Given the description of an element on the screen output the (x, y) to click on. 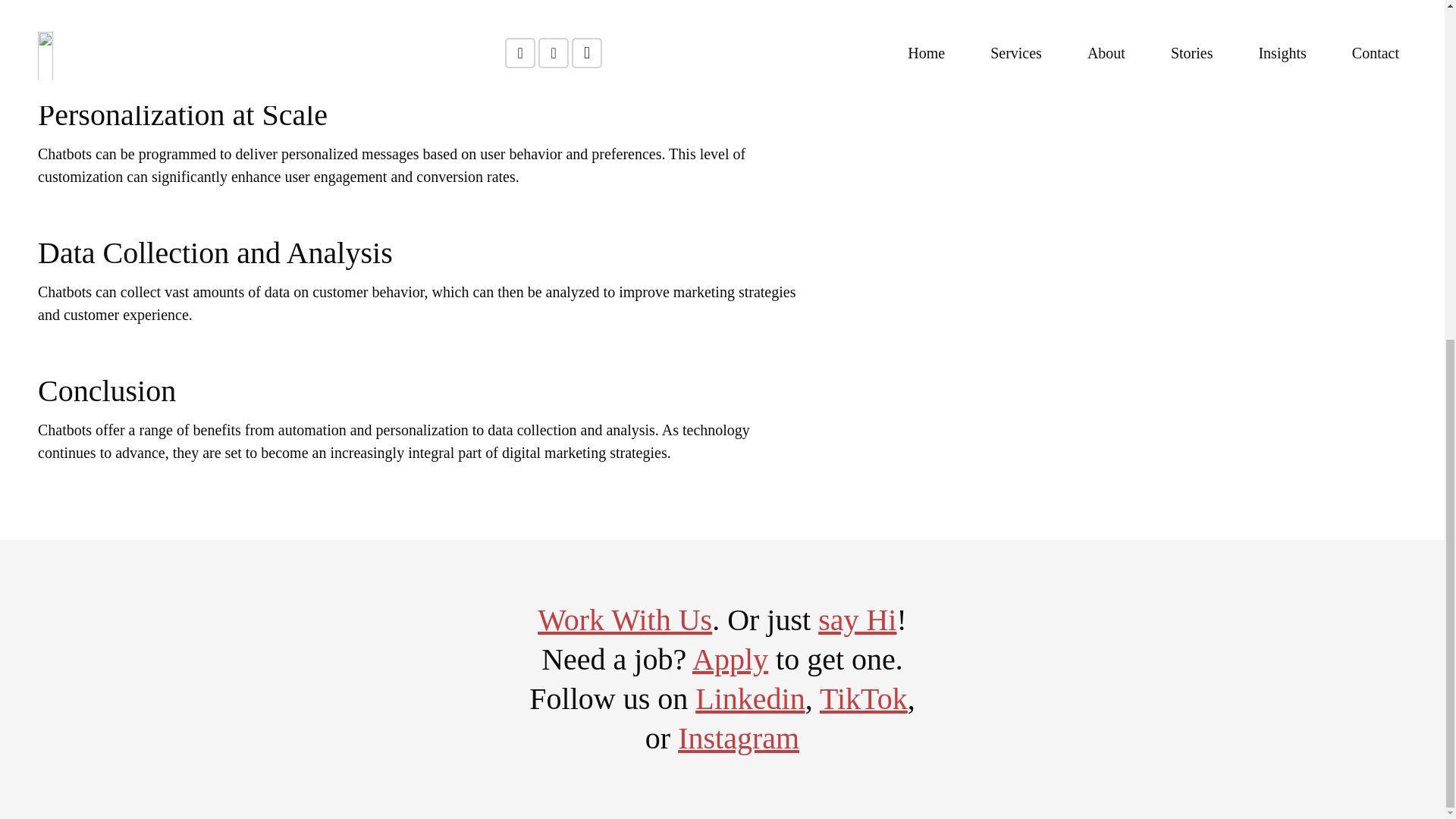
TikTok (863, 698)
Apply (730, 659)
Data Protection Policy (772, 232)
Work With Us (624, 619)
Terms Of Use (884, 232)
Linkedin (750, 698)
Cookies Policy (657, 232)
Privacy Policy (562, 232)
Instagram (738, 738)
say Hi (857, 619)
